Given the description of an element on the screen output the (x, y) to click on. 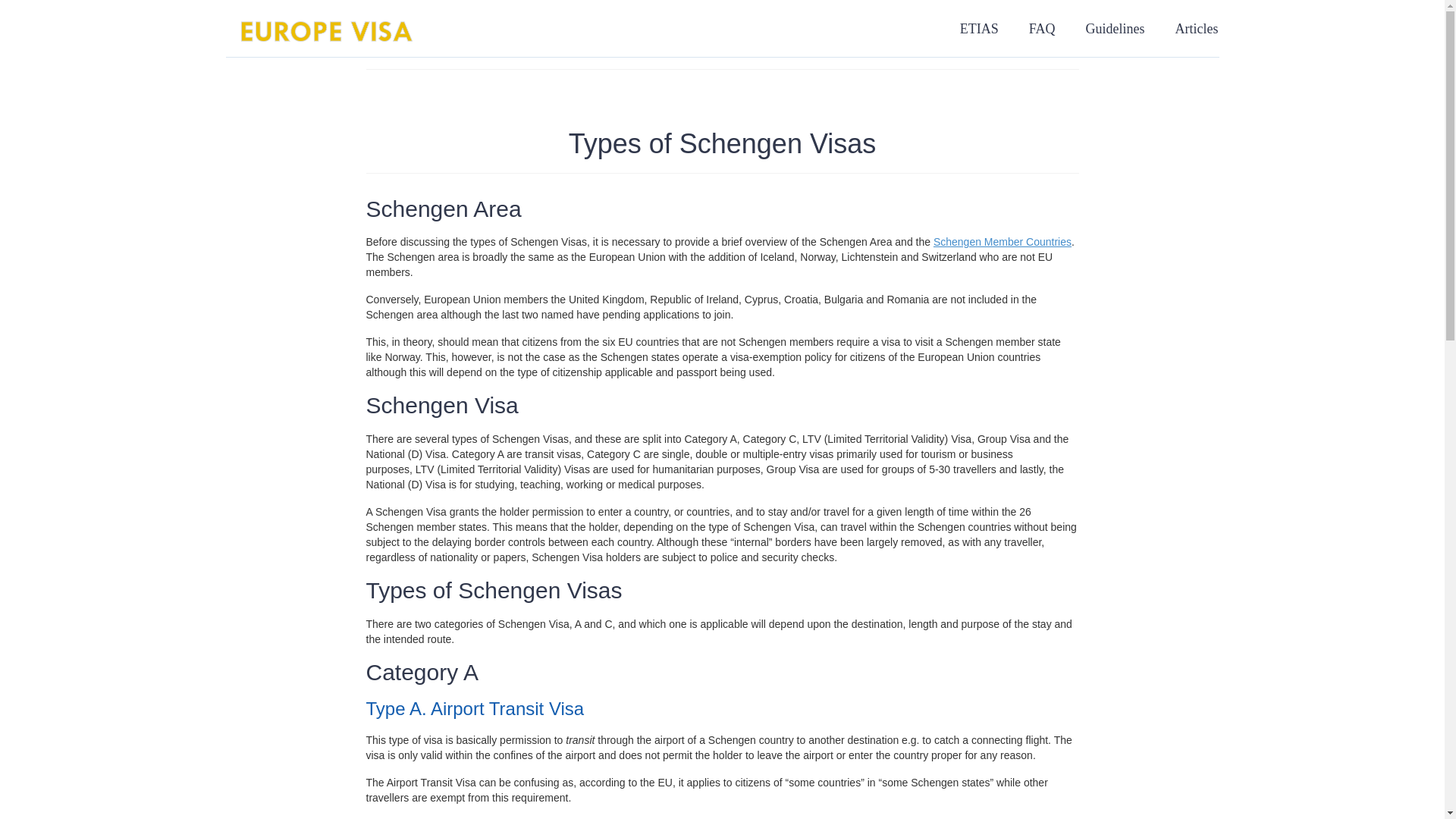
Schengen Member Countries (1002, 241)
Guidelines (1114, 27)
ETIAS (978, 27)
Articles (1195, 27)
FAQ (1041, 27)
